Given the description of an element on the screen output the (x, y) to click on. 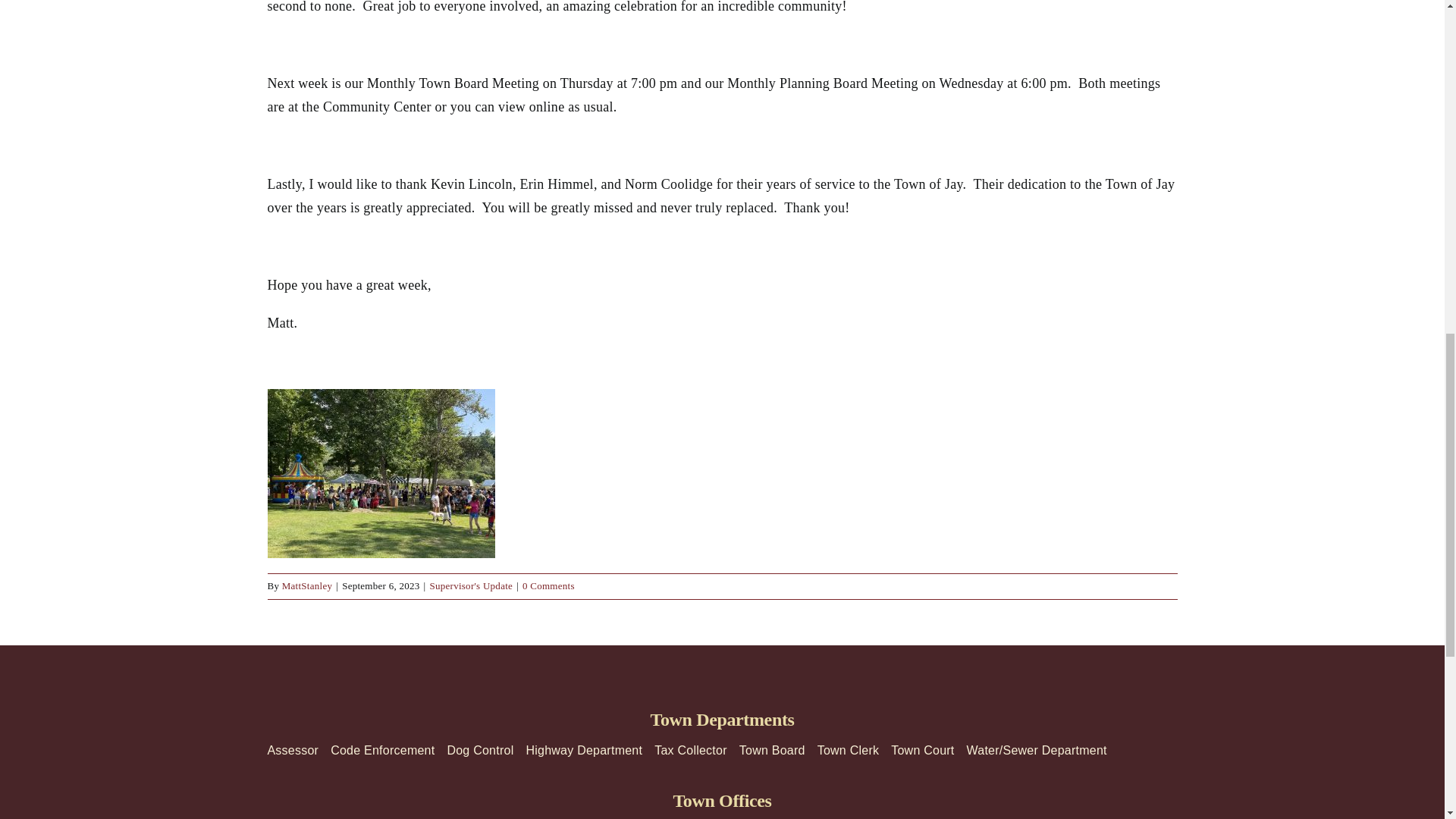
Posts by MattStanley (307, 585)
